Given the description of an element on the screen output the (x, y) to click on. 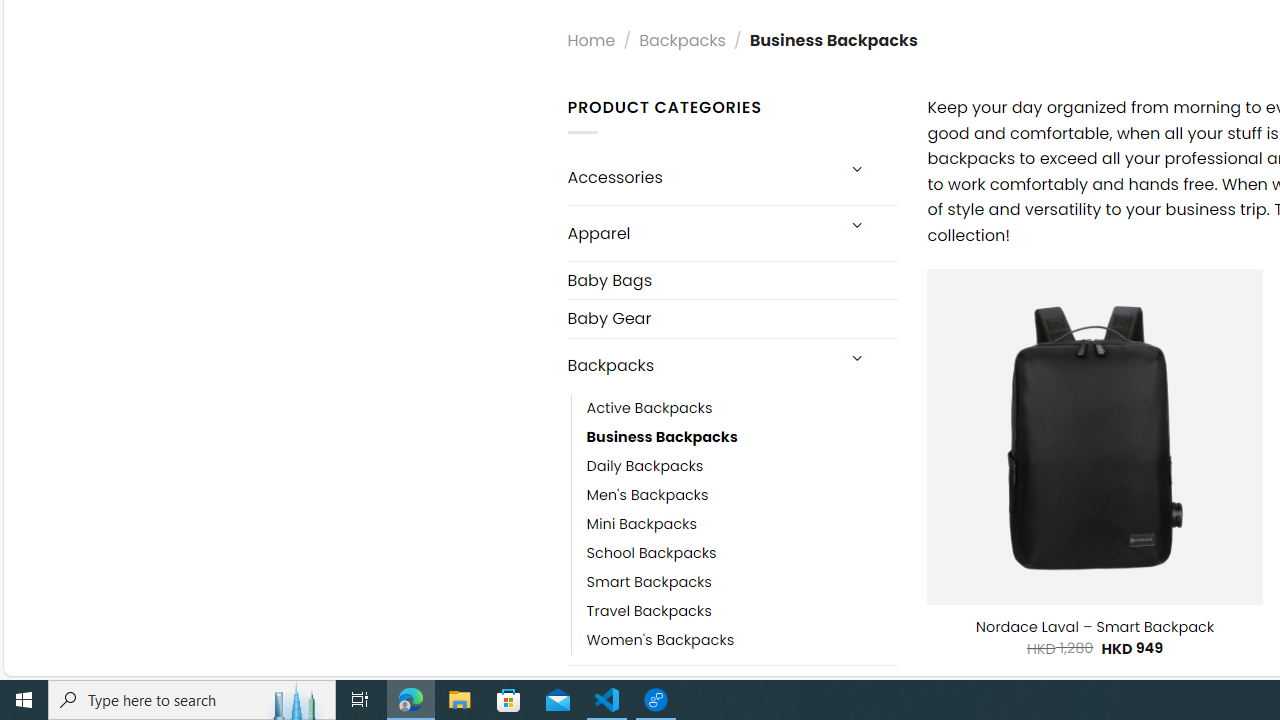
Women's Backpacks (742, 639)
Baby Bags (732, 280)
Baby Gear (732, 318)
Smart Backpacks (648, 581)
Active Backpacks (742, 408)
Backpacks (700, 366)
Women's Backpacks (660, 639)
Bags (700, 692)
Accessories (700, 177)
Smart Backpacks (742, 581)
